Given the description of an element on the screen output the (x, y) to click on. 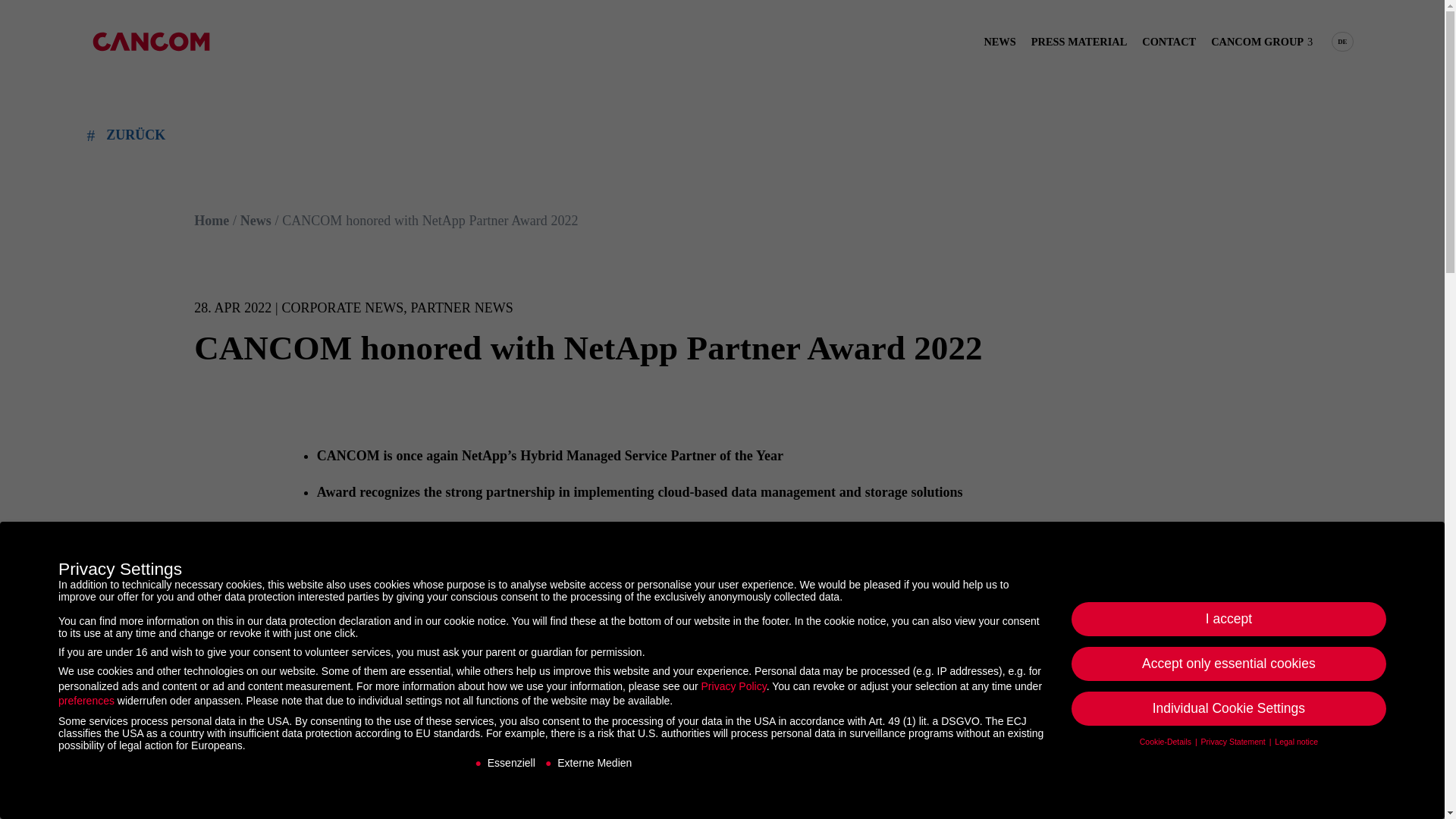
Open Cookie Preferences (32, 798)
CANCOM Newsroom (149, 41)
DE (1342, 40)
NEWS (999, 41)
CONTACT (1168, 41)
CANCOM GROUP (1262, 41)
News (255, 220)
DE (1342, 40)
PRESS MATERIAL (1078, 41)
Home (210, 220)
